Given the description of an element on the screen output the (x, y) to click on. 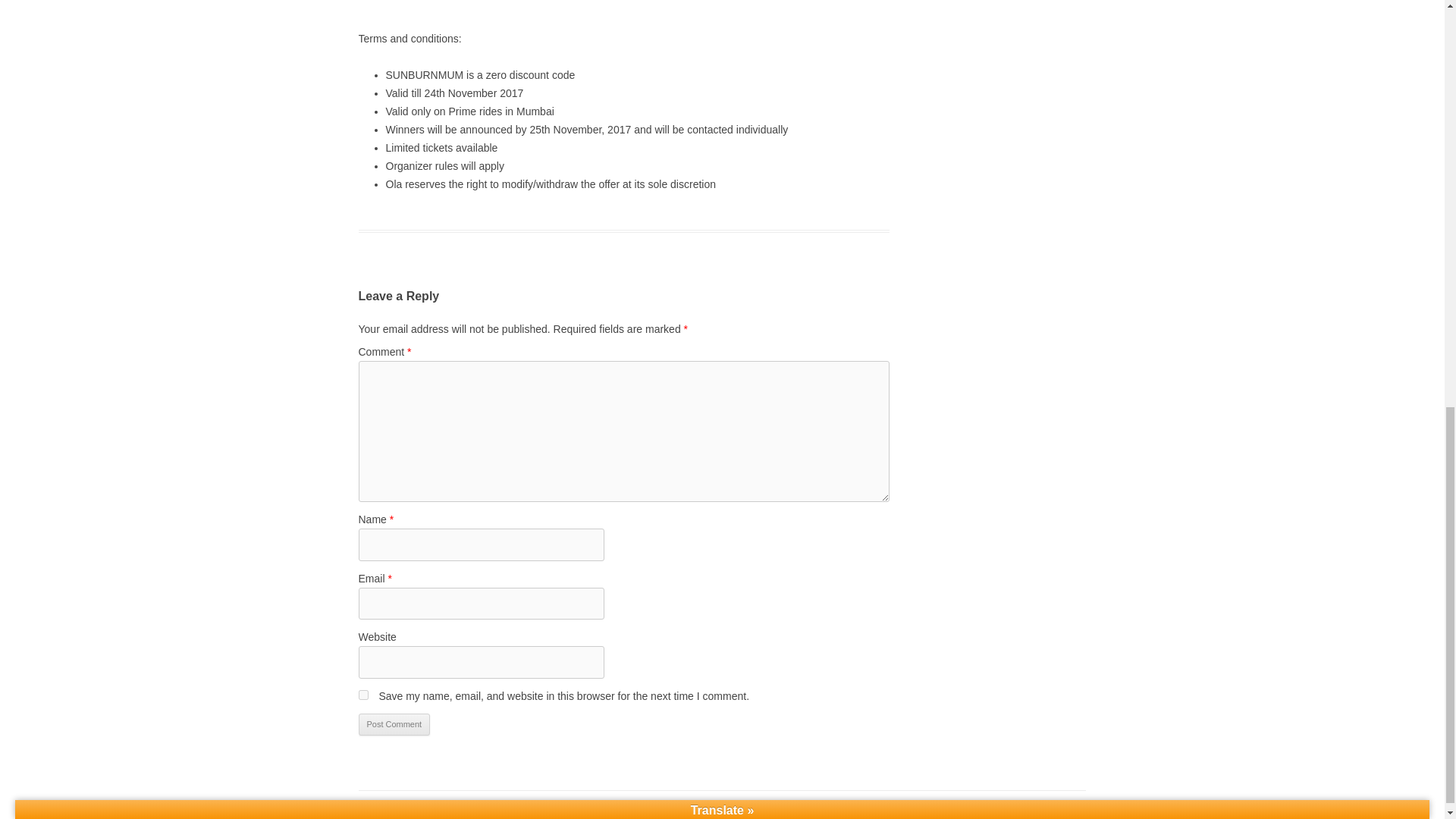
Post Comment (393, 724)
yes (363, 695)
Post Comment (393, 724)
